Given the description of an element on the screen output the (x, y) to click on. 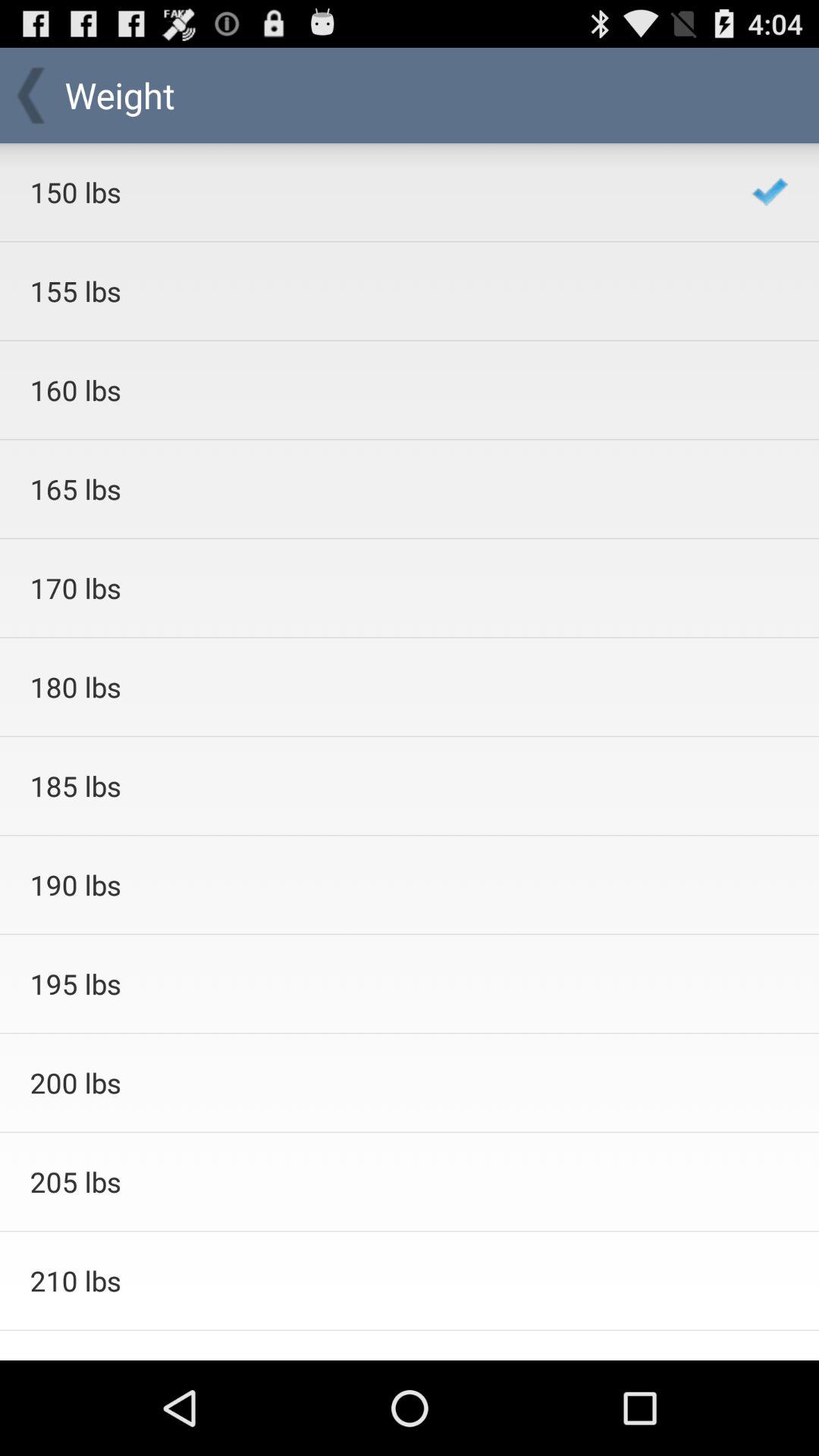
launch icon above the 185 lbs icon (371, 686)
